Given the description of an element on the screen output the (x, y) to click on. 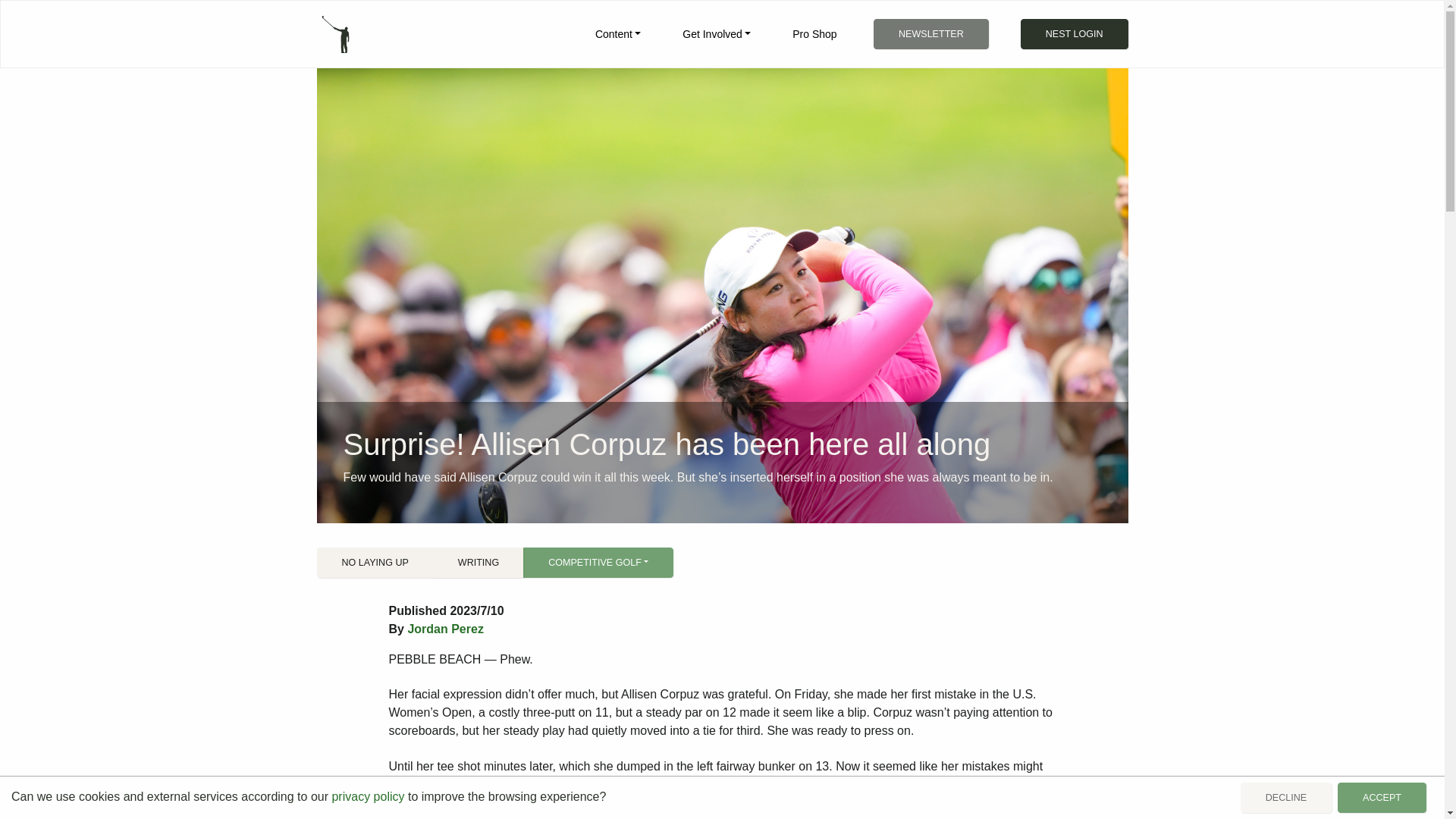
DECLINE (1286, 797)
WRITING (478, 562)
privacy policy (367, 796)
ACCEPT (1382, 797)
Jordan Perez (445, 628)
NEWSLETTER (930, 33)
NO LAYING UP (375, 562)
COMPETITIVE GOLF (597, 562)
Pro Shop (814, 33)
NEST LOGIN (1074, 33)
